Given the description of an element on the screen output the (x, y) to click on. 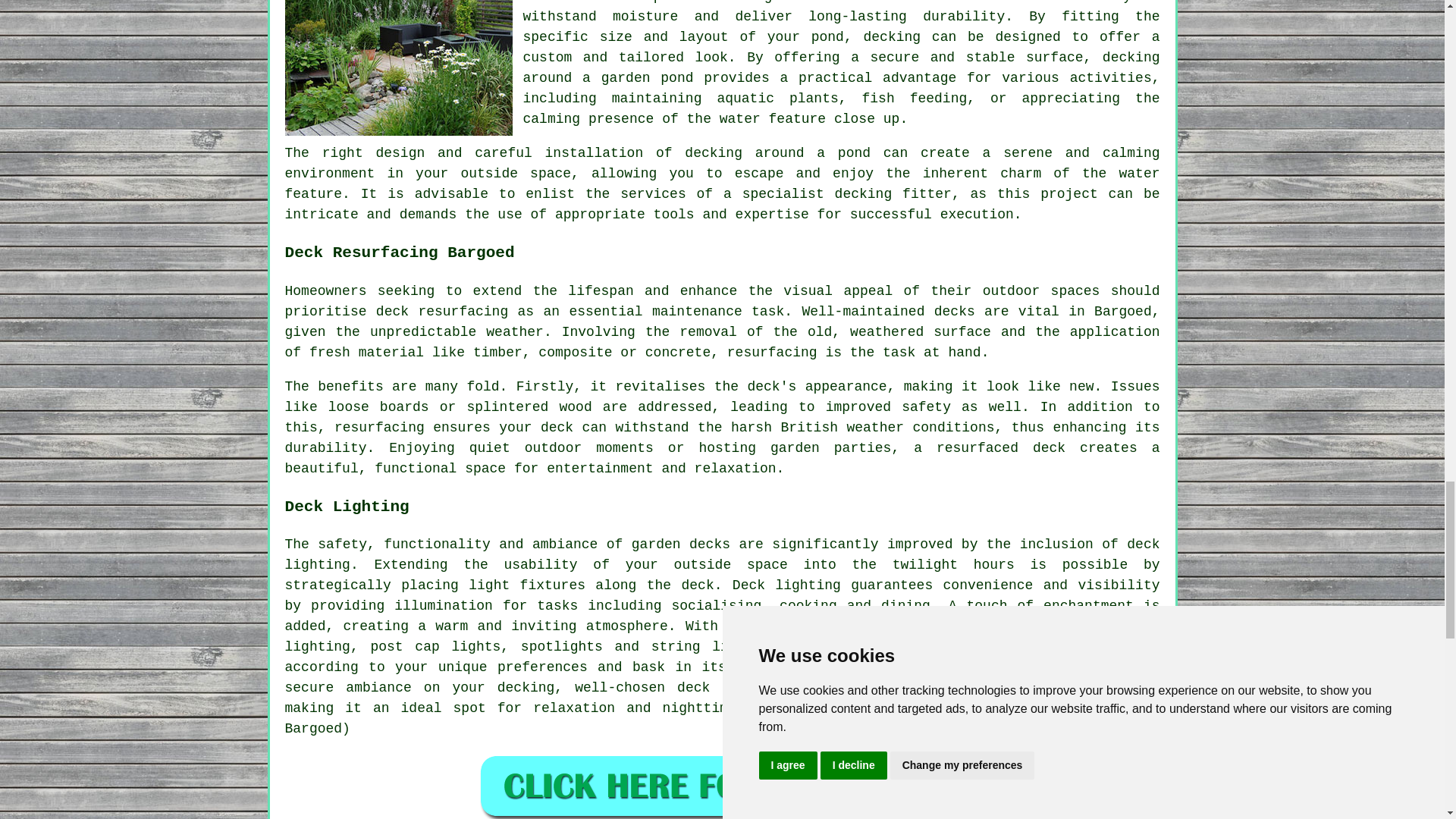
Decking Around Pond (398, 67)
